Given the description of an element on the screen output the (x, y) to click on. 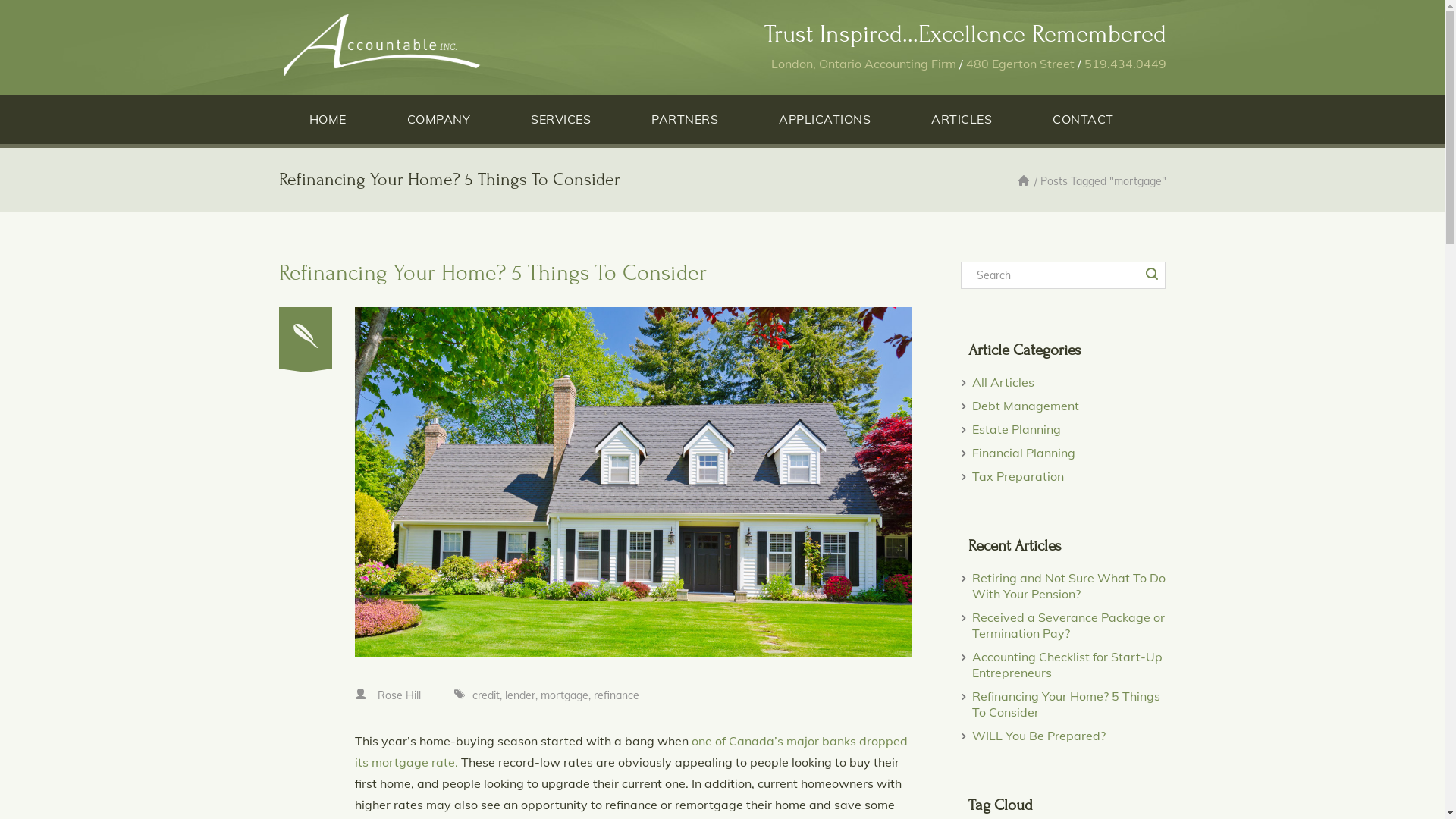
Retiring and Not Sure What To Do With Your Pension? Element type: text (1068, 585)
Estate Planning Element type: text (1016, 428)
APPLICATIONS Element type: text (824, 118)
Refinancing Your Home? 5 Things To Consider Element type: text (1066, 703)
Financial Planning Element type: text (1023, 452)
519.434.0449 Element type: text (1125, 63)
refinance Element type: text (615, 695)
PARTNERS Element type: text (684, 118)
WILL You Be Prepared? Element type: text (1038, 735)
SERVICES Element type: text (560, 118)
mortgage Element type: text (563, 695)
All Articles Element type: text (1003, 381)
HOME Element type: text (327, 118)
lender Element type: text (520, 695)
ARTICLES Element type: text (961, 118)
Tax Preparation Element type: text (1017, 475)
CONTACT Element type: text (1083, 118)
Received a Severance Package or Termination Pay? Element type: text (1068, 624)
COMPANY Element type: text (438, 118)
Debt Management Element type: text (1025, 405)
Rose Hill Element type: text (398, 695)
Refinancing Your Home? 5 Things To Consider Element type: text (492, 272)
credit Element type: text (484, 695)
Accounting Checklist for Start-Up Entrepreneurs Element type: text (1067, 664)
